Given the description of an element on the screen output the (x, y) to click on. 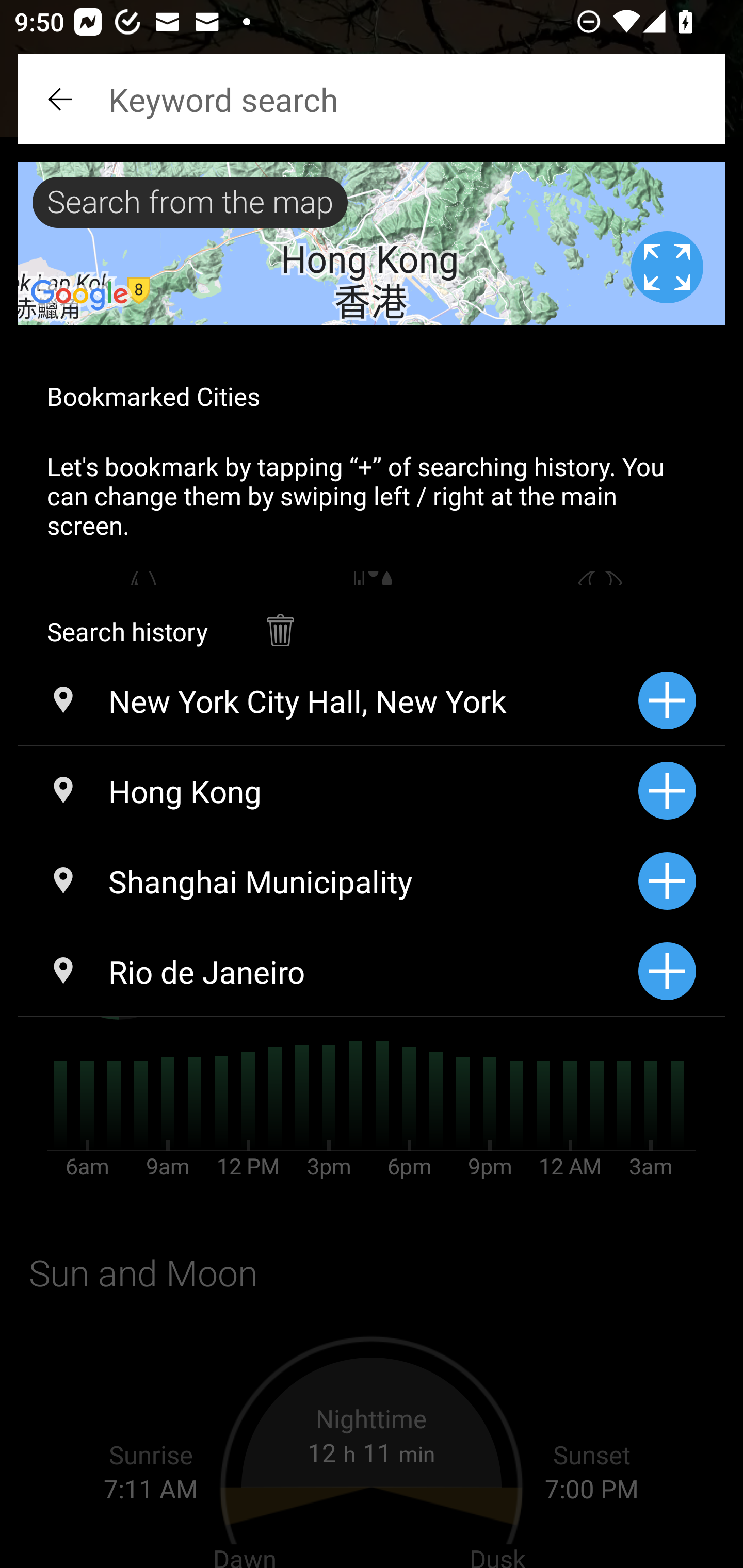
Keyword search (371, 99)
 (61, 99)
 (280, 619)
 New York City Hall, New York (327, 700)
 Hong Kong (327, 790)
 Shanghai Municipality (327, 880)
 Rio de Janeiro (327, 971)
